Given the description of an element on the screen output the (x, y) to click on. 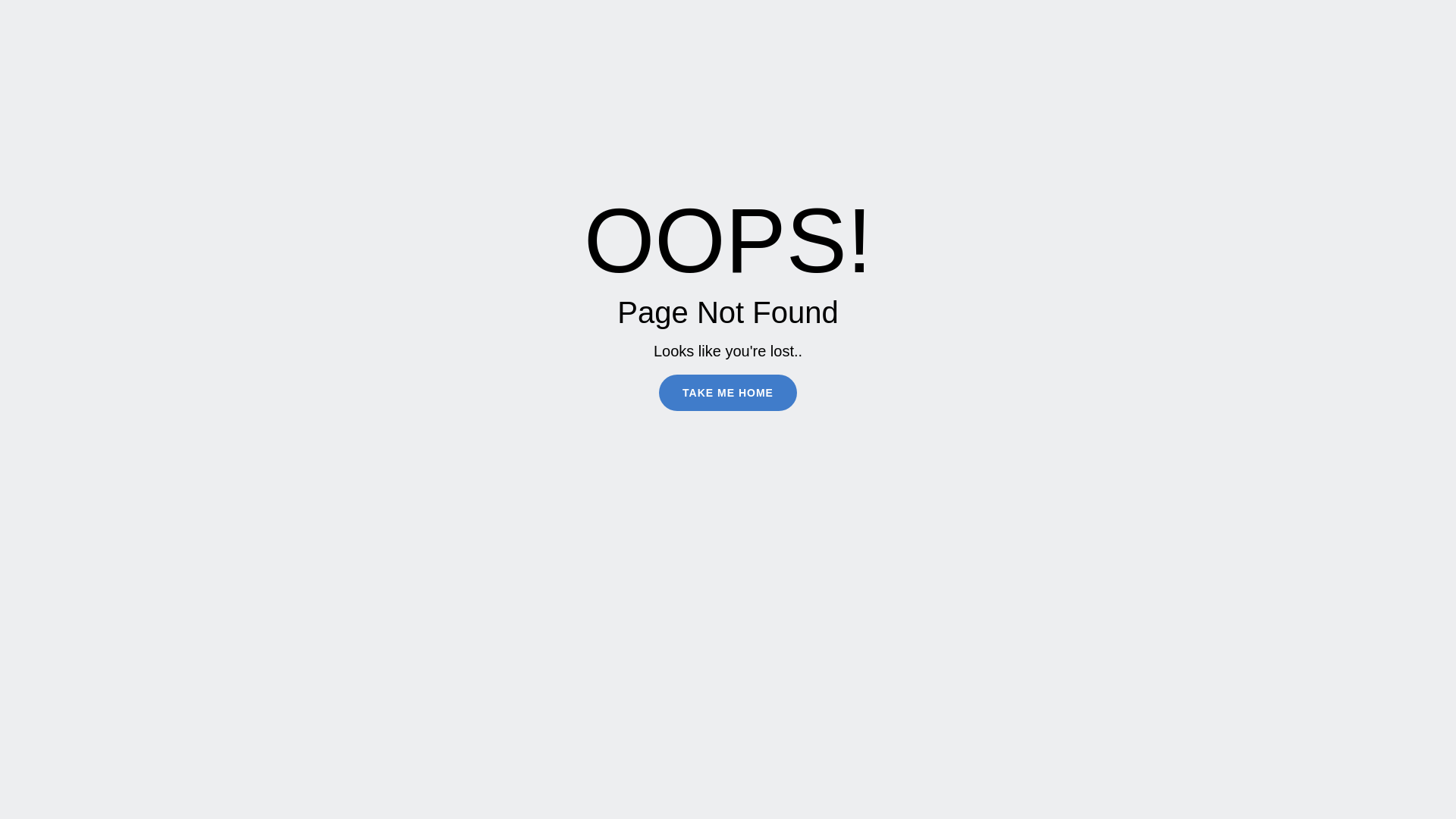
TAKE ME HOME Element type: text (727, 392)
